Given the description of an element on the screen output the (x, y) to click on. 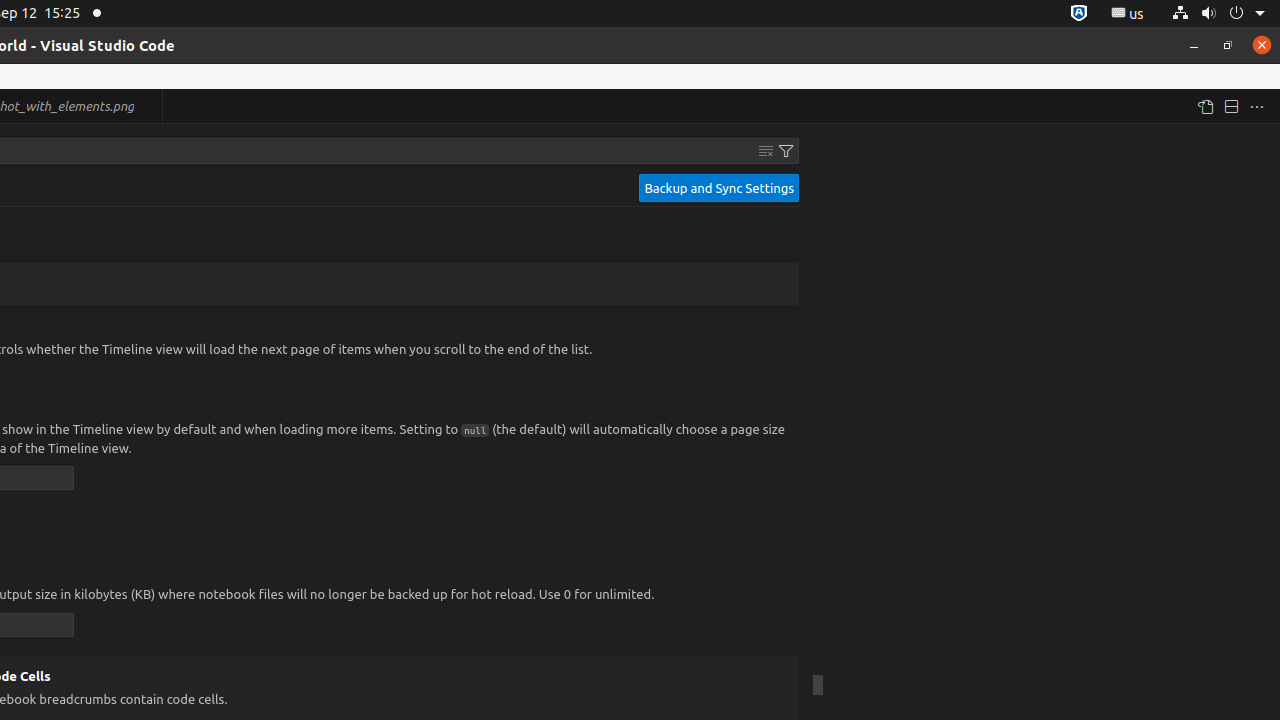
More Actions... Element type: push-button (1257, 106)
Clear Settings Search Input Element type: push-button (766, 151)
Filter Settings Element type: push-button (786, 151)
Split Editor Right (Ctrl+\) [Alt] Split Editor Down Element type: push-button (1231, 106)
